Given the description of an element on the screen output the (x, y) to click on. 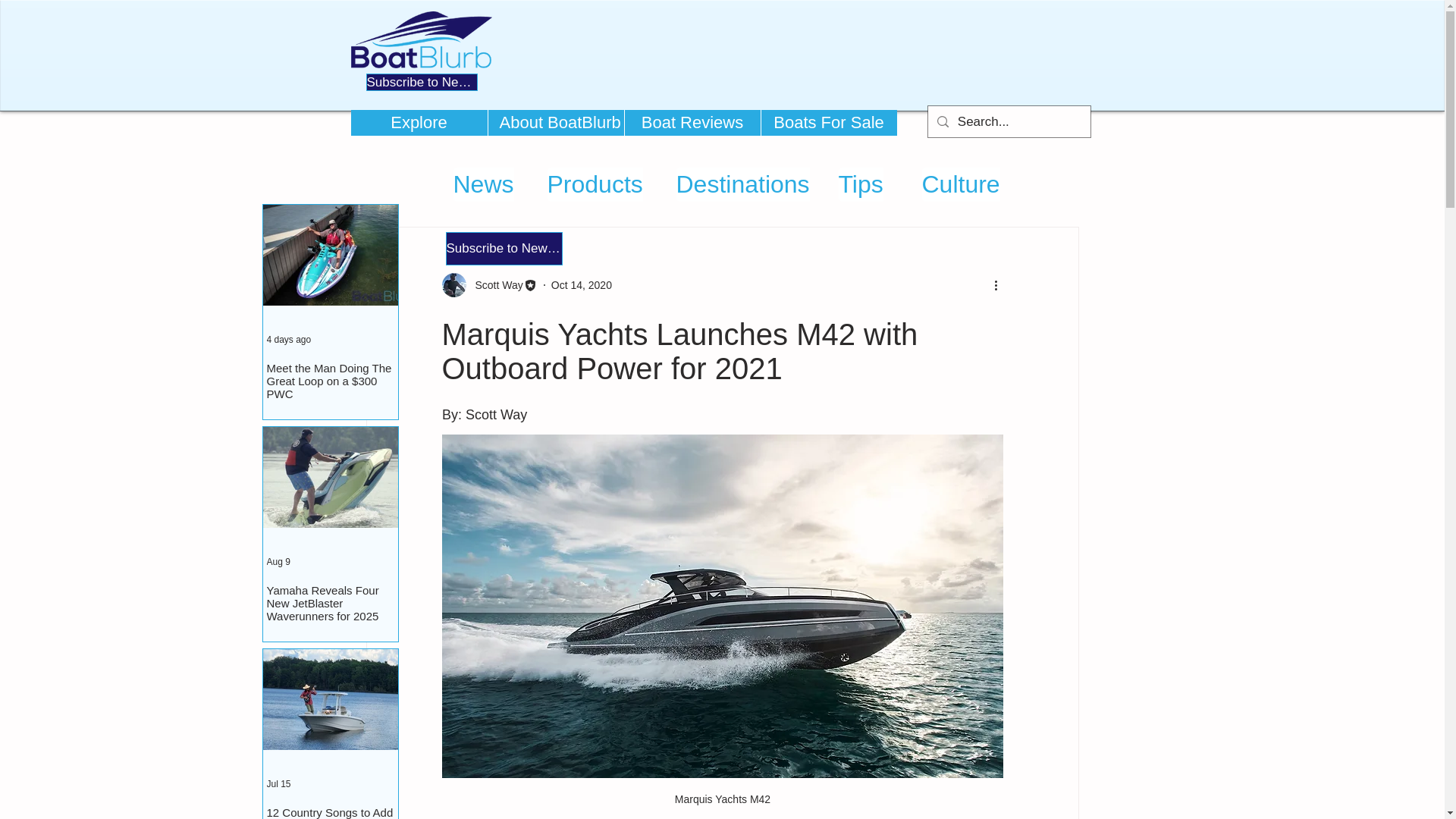
About BoatBlurb (554, 122)
Scott Way (493, 285)
Oct 14, 2020 (581, 285)
Scott Way (489, 284)
Boat Reviews (691, 122)
Products (595, 184)
Tips (860, 184)
Culture (960, 184)
News (482, 184)
Boats For Sale (828, 122)
